Given the description of an element on the screen output the (x, y) to click on. 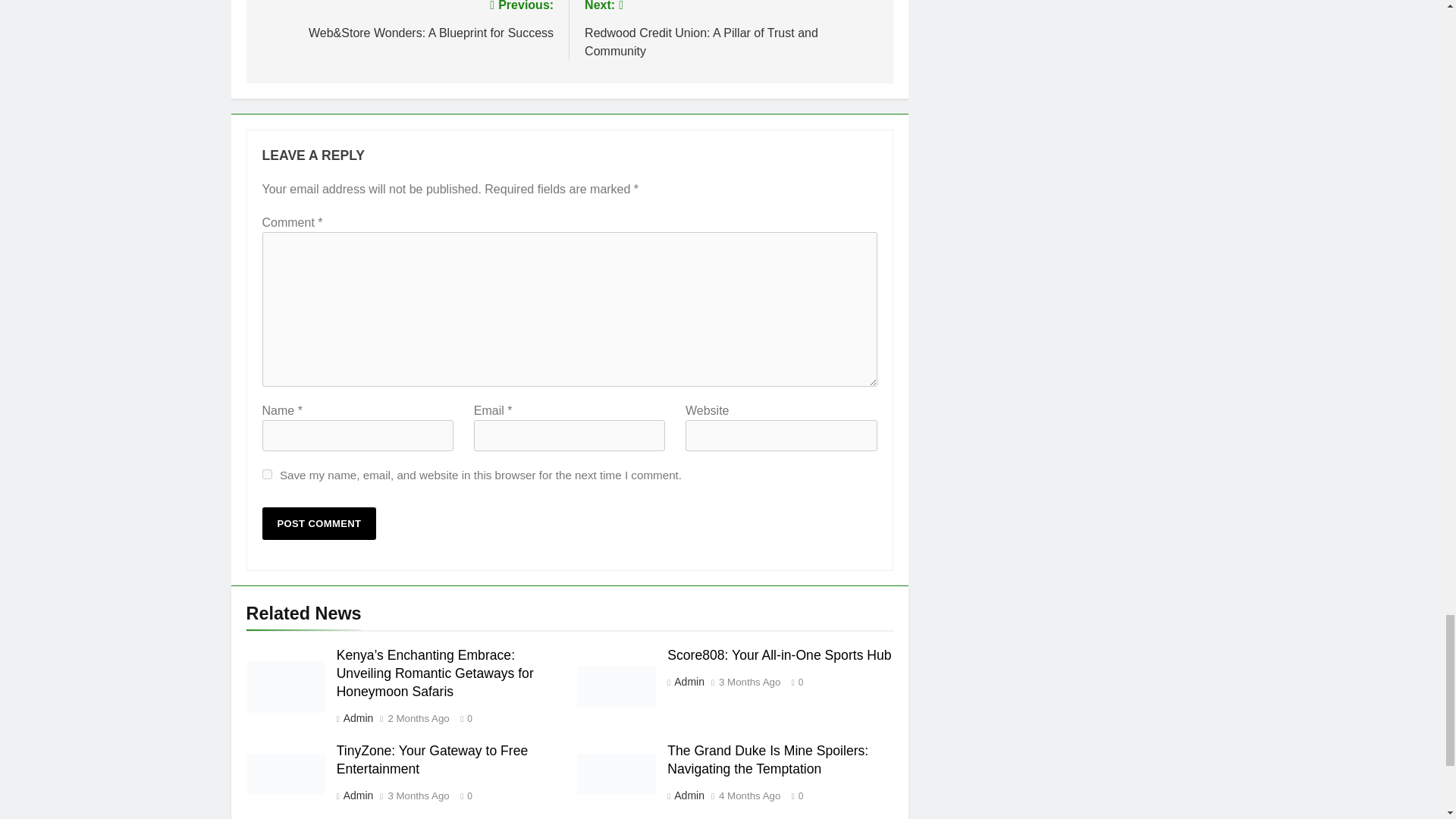
Post Comment (319, 522)
yes (267, 474)
